Given the description of an element on the screen output the (x, y) to click on. 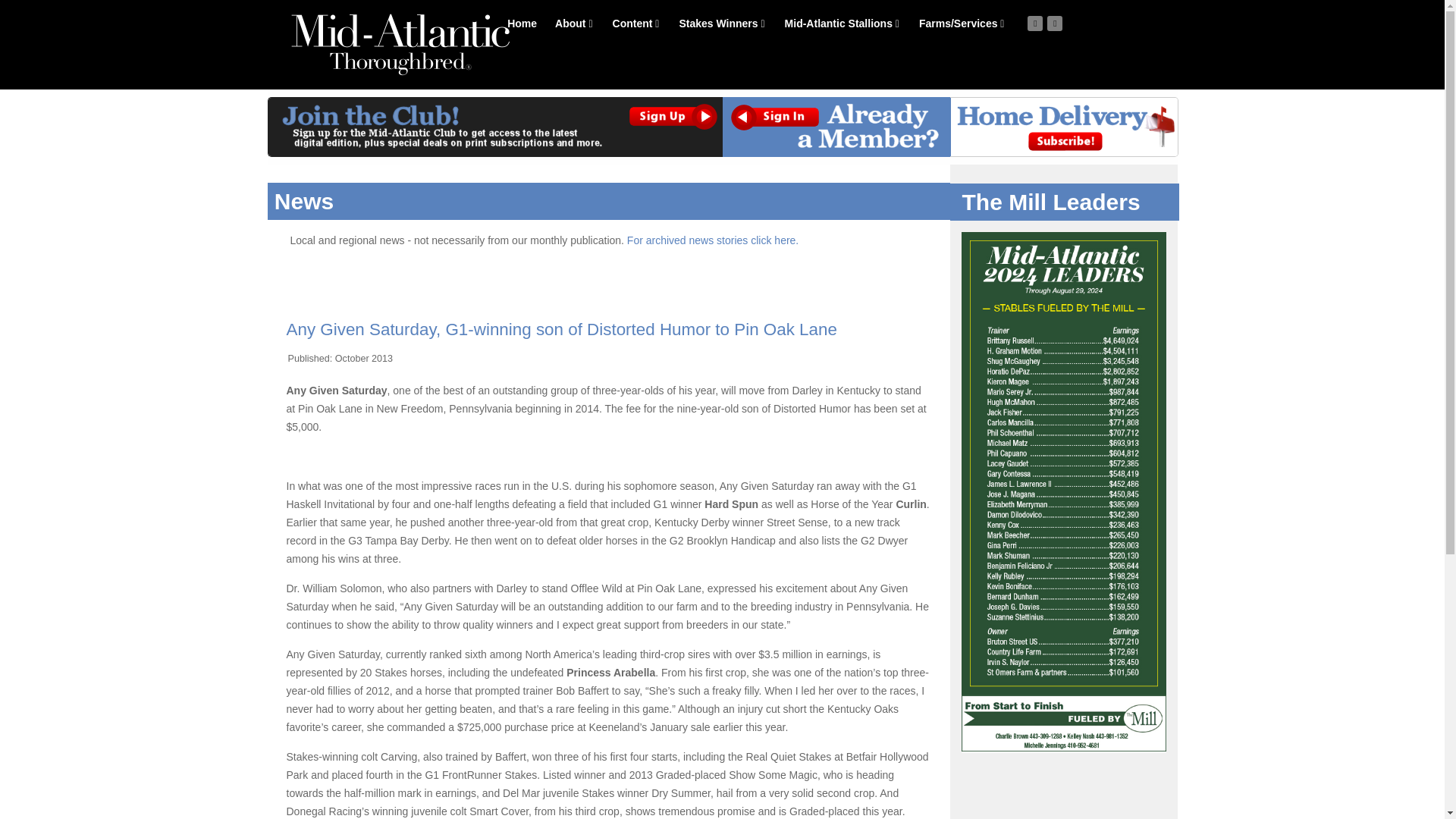
Content (636, 22)
Stakes Winners (721, 22)
About (573, 22)
Mid-Atlantic Stallions (842, 22)
Home (521, 22)
